Given the description of an element on the screen output the (x, y) to click on. 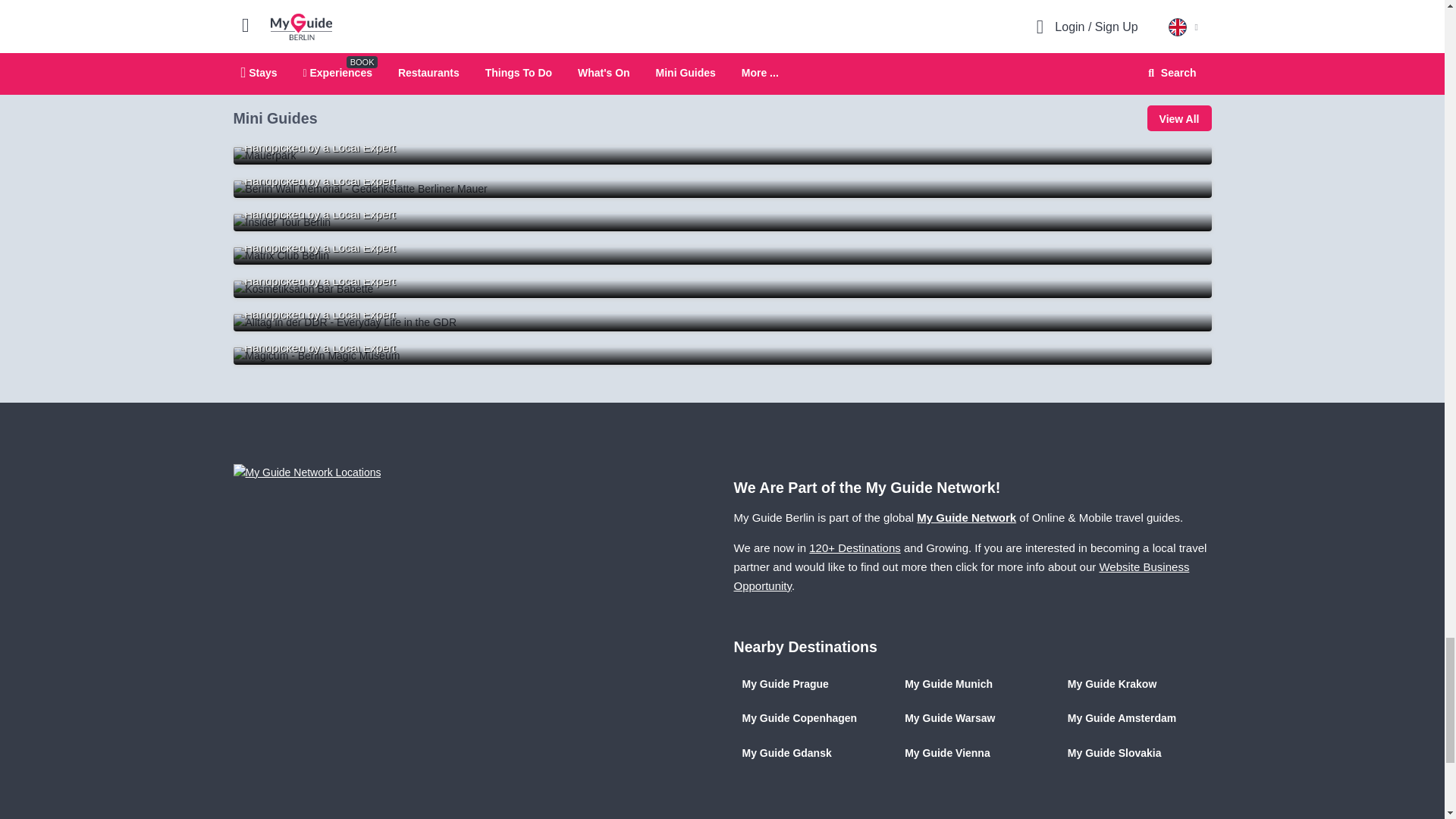
Best Markets in Berlin (721, 155)
